Given the description of an element on the screen output the (x, y) to click on. 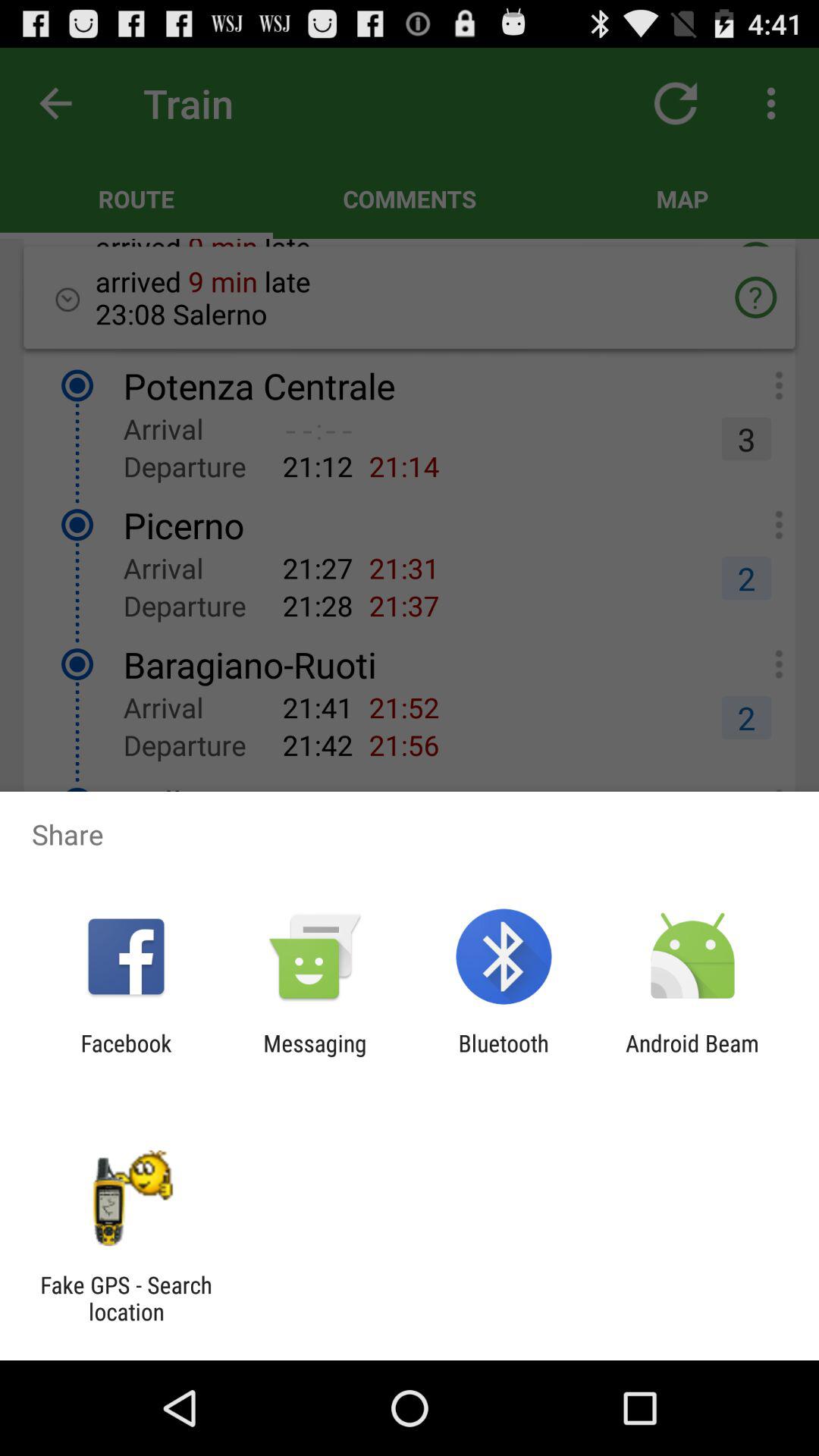
click icon to the right of messaging app (503, 1056)
